Given the description of an element on the screen output the (x, y) to click on. 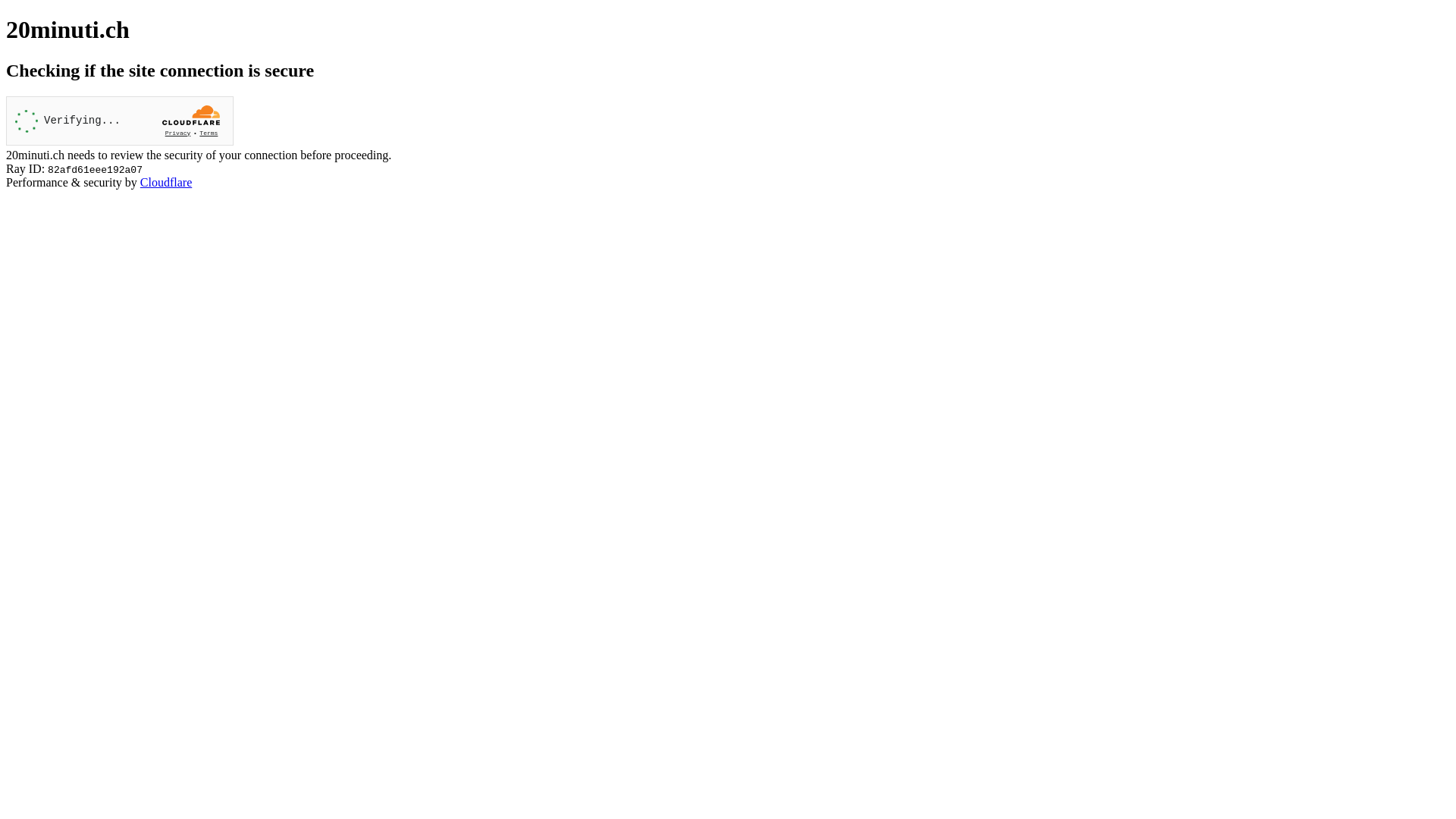
Widget containing a Cloudflare security challenge Element type: hover (119, 120)
Cloudflare Element type: text (165, 181)
